Given the description of an element on the screen output the (x, y) to click on. 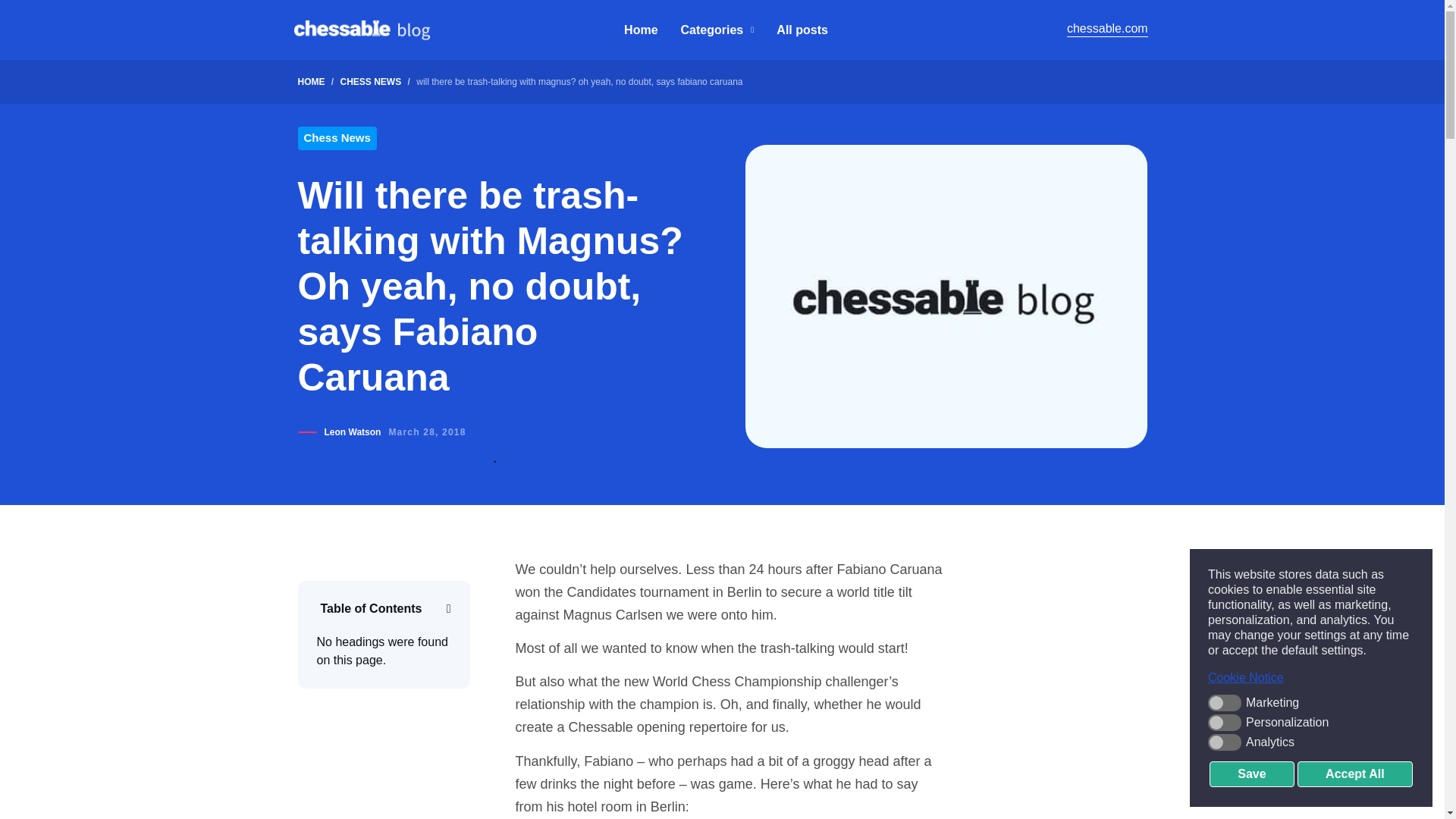
Save (1251, 774)
Marketing (1310, 702)
Analytics (1310, 742)
Cookie Notice (1310, 677)
Categories (717, 29)
All posts (802, 29)
Accept All (1354, 774)
Home (641, 29)
Personalization (1310, 722)
